Given the description of an element on the screen output the (x, y) to click on. 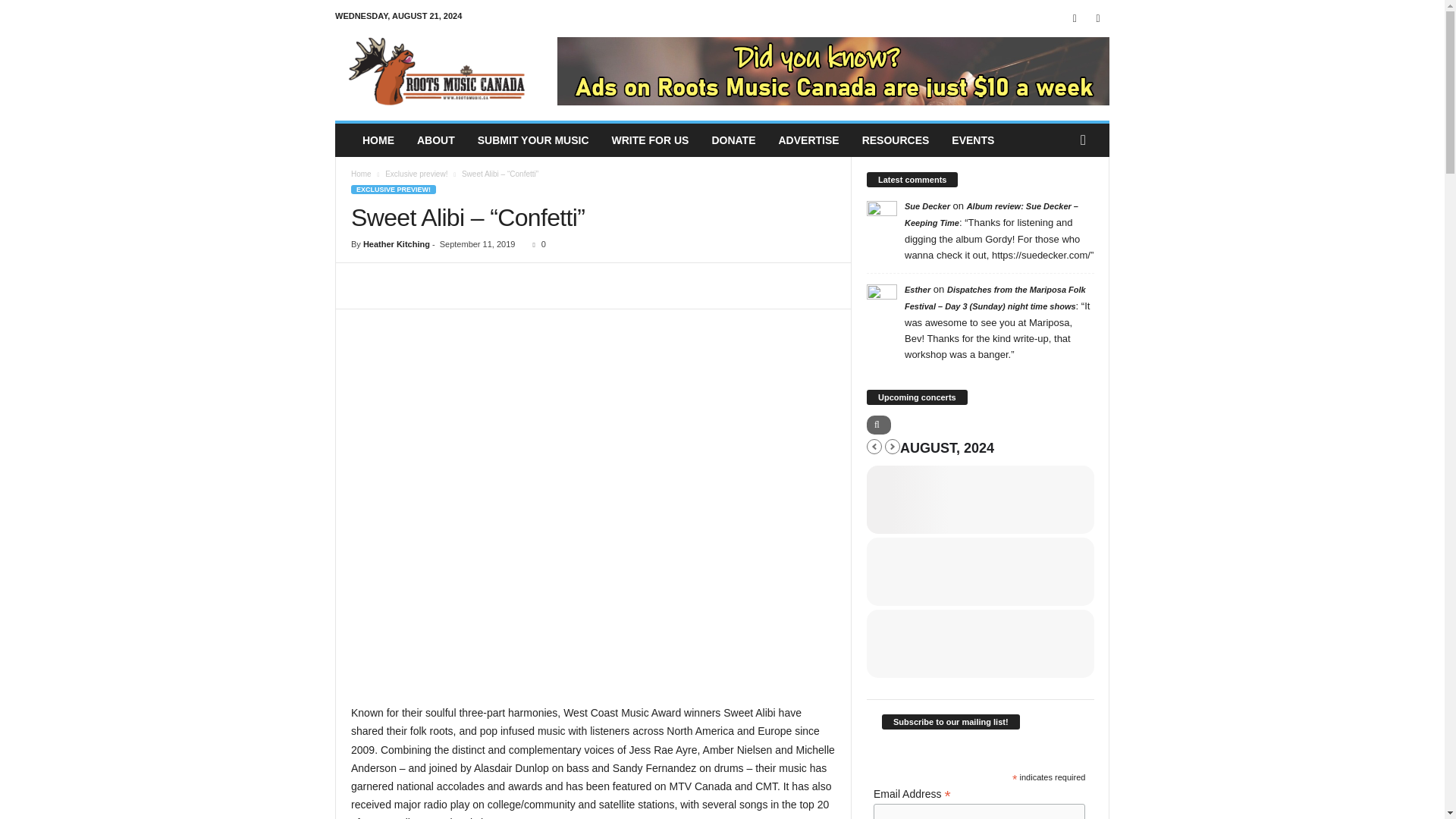
HOME (378, 140)
Donate to Roots Music Canada (733, 140)
Roots Music Canada (437, 70)
Submissions (532, 140)
View all posts in Exclusive preview! (415, 173)
About (435, 140)
